Given the description of an element on the screen output the (x, y) to click on. 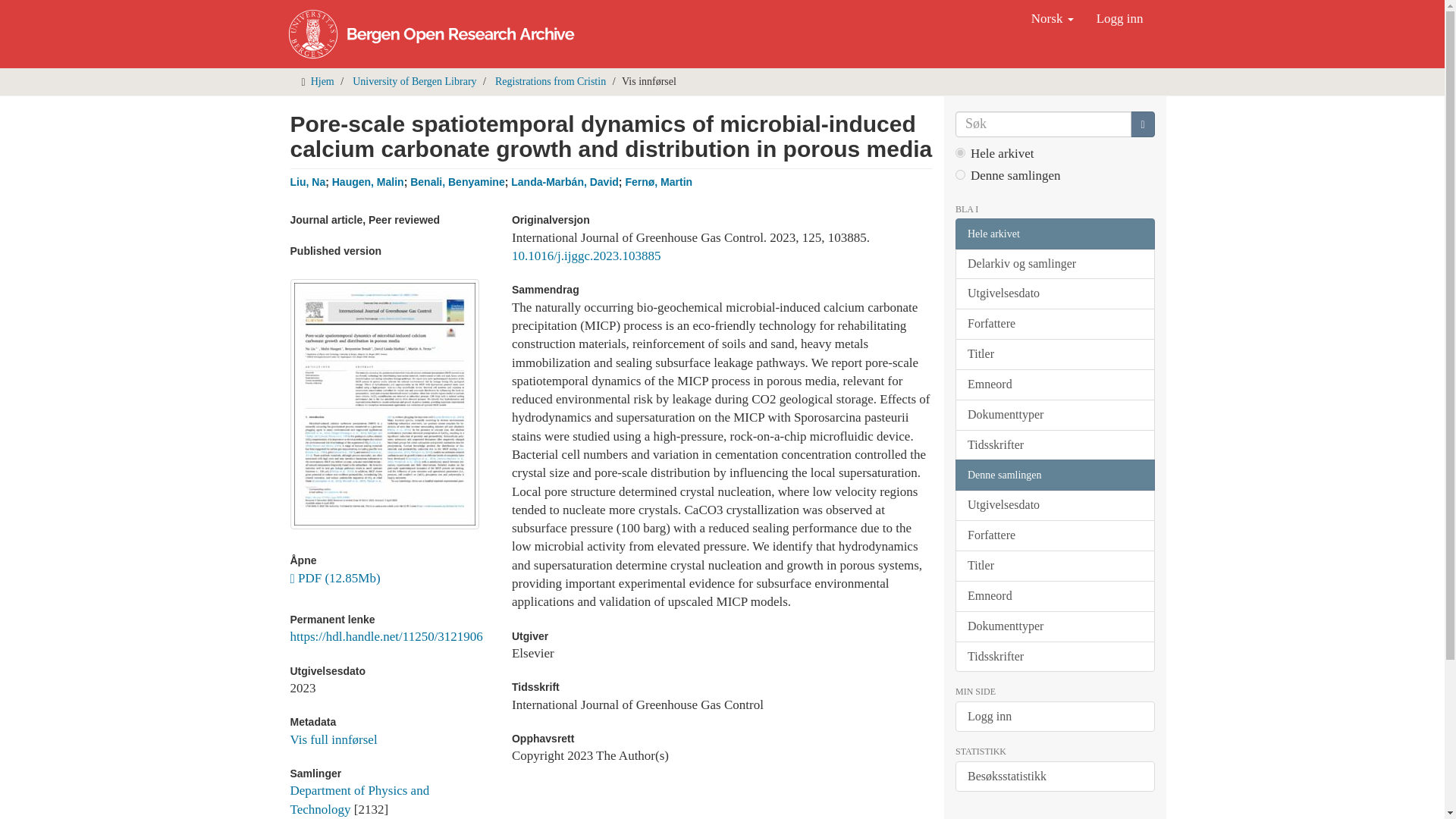
Hjem (322, 81)
Hele arkivet (1054, 233)
Registrations from Cristin (550, 81)
Benali, Benyamine (457, 182)
Logg inn (1119, 18)
Norsk  (1052, 18)
Liu, Na (306, 182)
University of Bergen Library (414, 81)
Department of Physics and Technology (359, 798)
Haugen, Malin (367, 182)
